Given the description of an element on the screen output the (x, y) to click on. 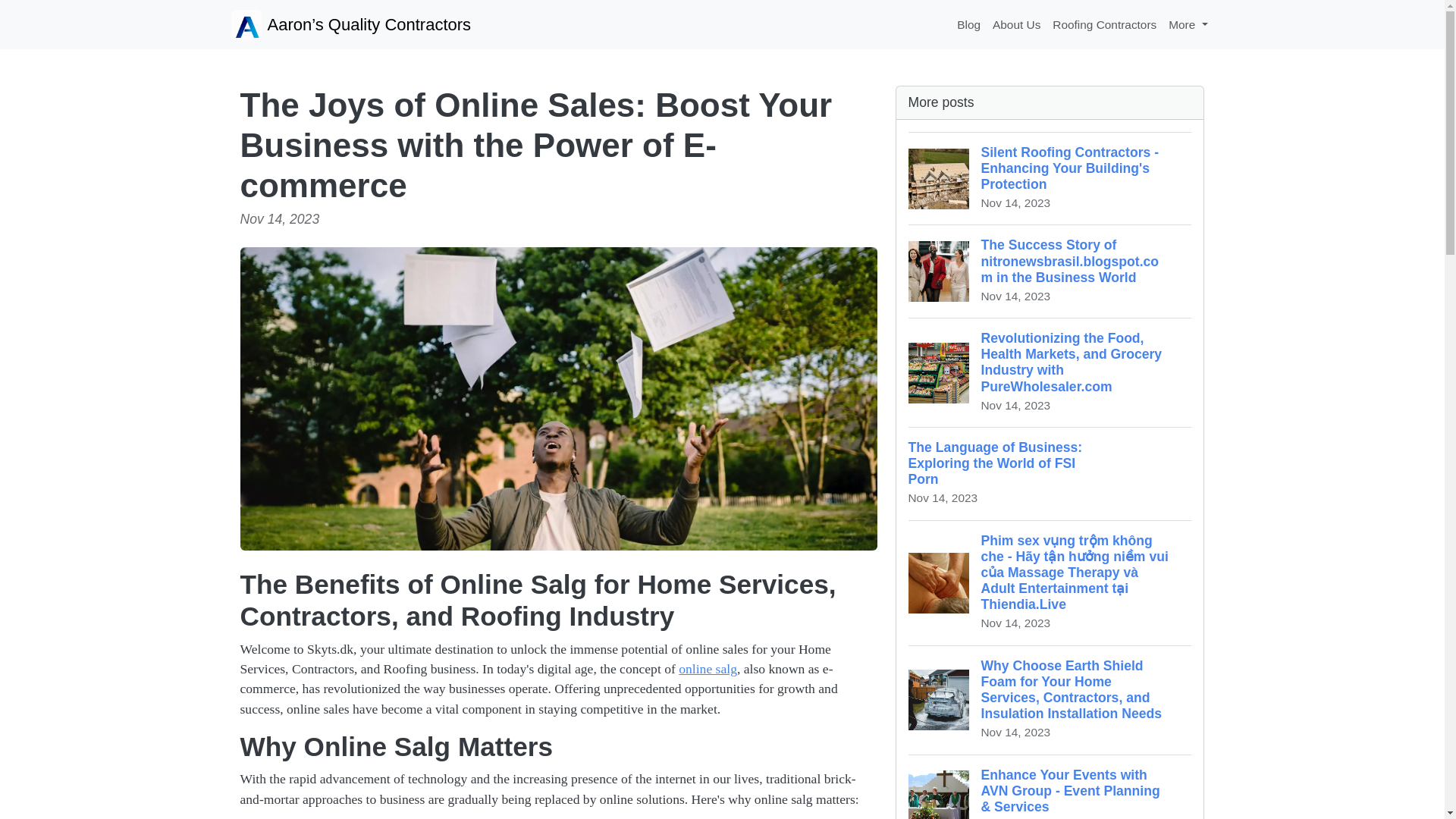
Roofing Contractors (1103, 24)
More (1186, 24)
About Us (1016, 24)
online salg (707, 668)
Blog (968, 24)
